Given the description of an element on the screen output the (x, y) to click on. 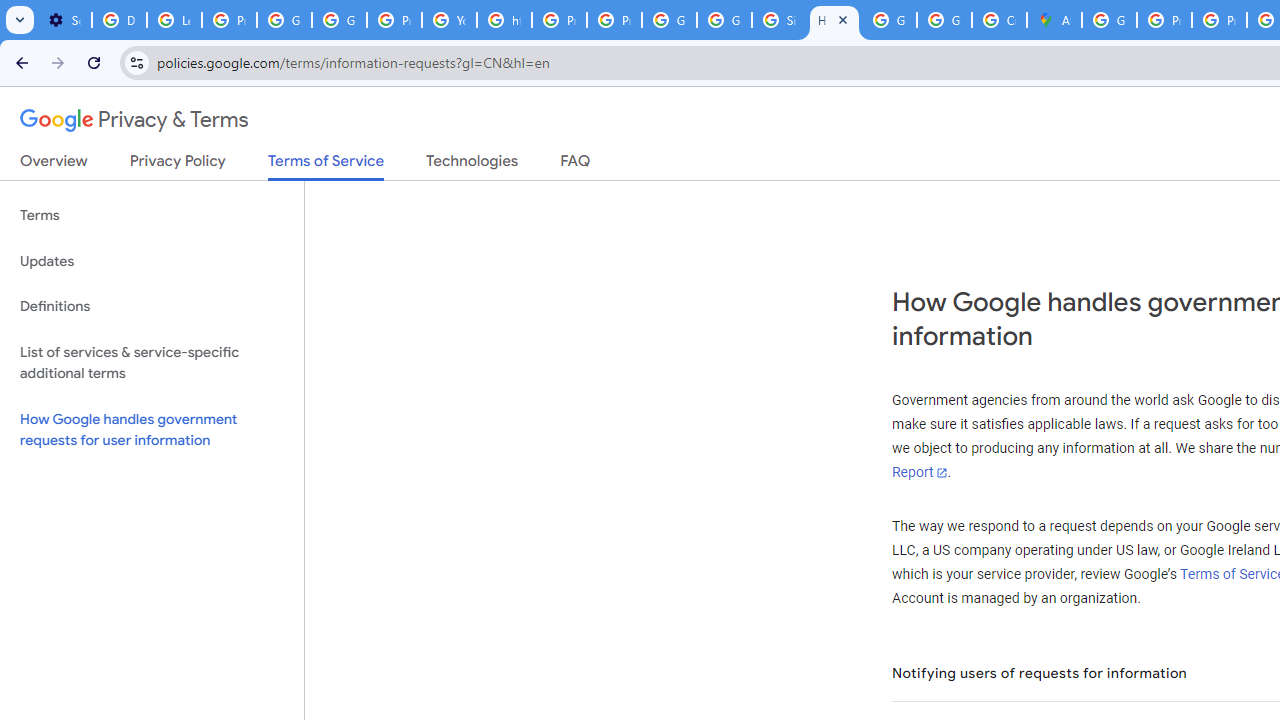
Privacy Help Center - Policies Help (559, 20)
Privacy Help Center - Policies Help (1218, 20)
Settings - On startup (64, 20)
